Given the description of an element on the screen output the (x, y) to click on. 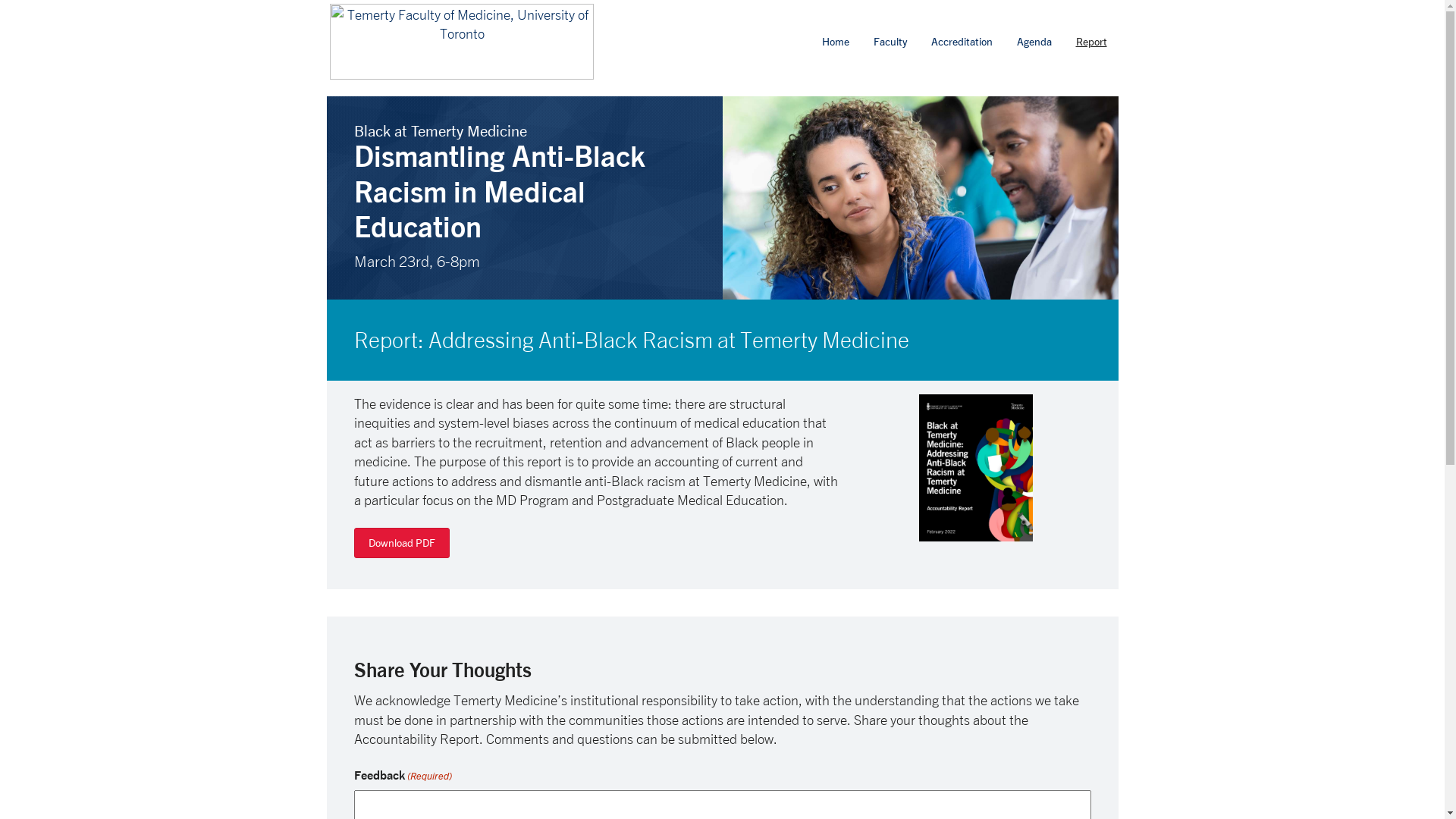
Home Element type: text (834, 40)
Faculty Element type: text (889, 40)
Report Element type: text (1091, 40)
Accreditation Element type: text (961, 40)
Agenda Element type: text (1034, 40)
Download PDF Element type: text (400, 542)
